Given the description of an element on the screen output the (x, y) to click on. 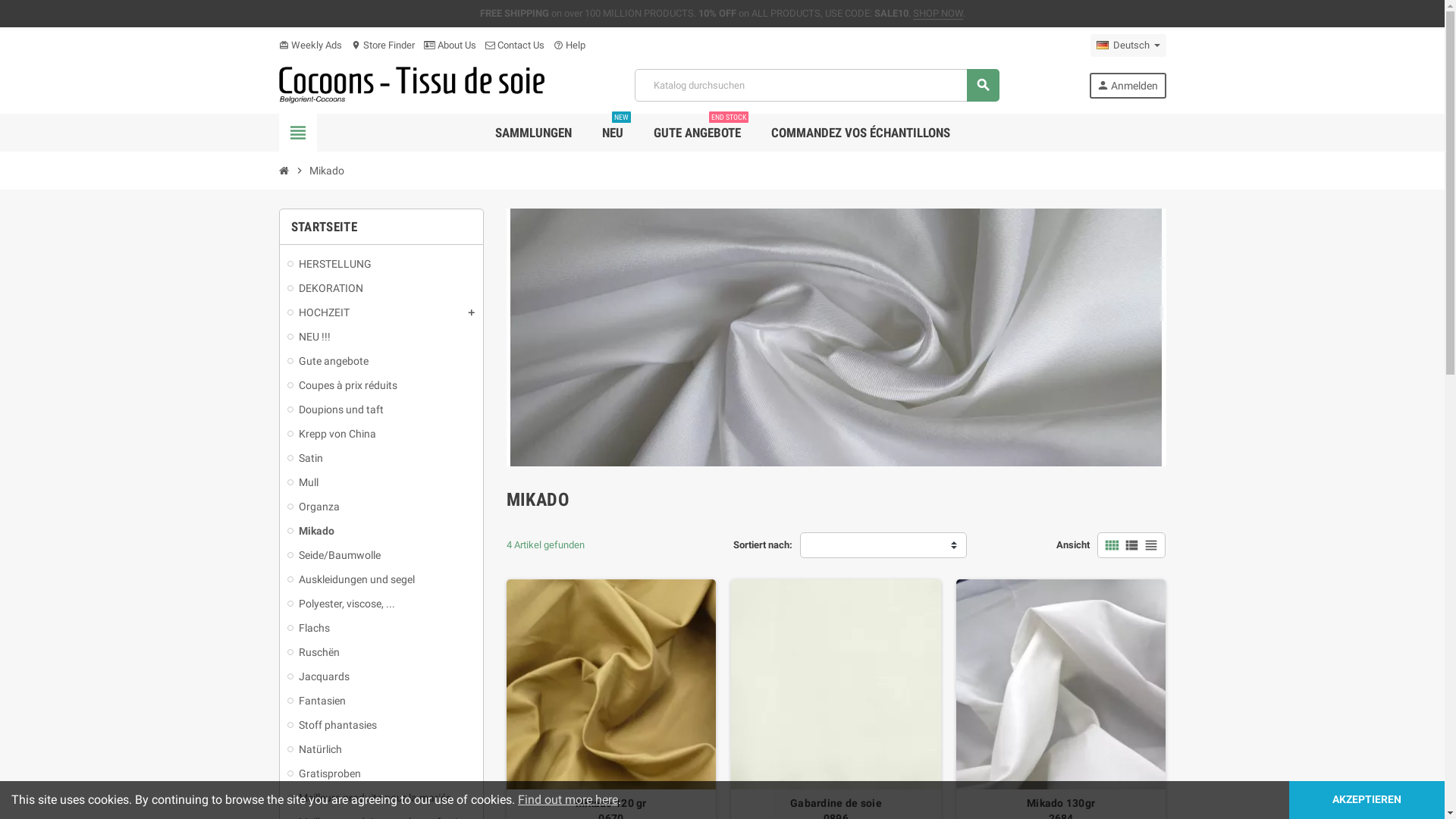
Mikado Element type: text (380, 530)
GUTE ANGEBOTE
END STOCK Element type: text (696, 132)
Organza Element type: text (380, 506)
Contact Us Element type: text (514, 44)
view_list Element type: text (1131, 544)
About Us Element type: text (449, 44)
view_comfy Element type: text (1111, 544)
SAMMLUNGEN Element type: text (533, 132)
  Deutsch Element type: text (1128, 45)
Polyester, viscose, ... Element type: text (380, 603)
NEU !!! Element type: text (380, 336)
card_giftcard Weekly Ads Element type: text (310, 44)
Fantasien Element type: text (380, 700)
NEU
NEW Element type: text (611, 132)
SHOP NOW Element type: text (938, 13)
Gabardine de soie Element type: hover (836, 684)
Flachs Element type: text (380, 627)
Find out more here Element type: text (567, 799)
Doupions und taft Element type: text (380, 409)
Gratisproben Element type: text (380, 773)
help_outline Help Element type: text (569, 44)
HOCHZEIT Element type: text (380, 312)
location_on Store Finder Element type: text (382, 44)
HERSTELLUNG Element type: text (380, 263)
Auskleidungen und segel Element type: text (380, 578)
Stoff phantasies Element type: text (380, 724)
Mikado Element type: text (325, 170)
person
Anmelden Element type: text (1127, 85)
Gute angebote Element type: text (380, 360)
Mikado 120 gr Element type: hover (611, 684)
Mull Element type: text (380, 481)
Satin Element type: text (380, 457)
COCOONS soie silk Element type: hover (412, 84)
DEKORATION Element type: text (380, 287)
Seide/Baumwolle Element type: text (380, 554)
search Element type: text (982, 85)
STARTSEITE Element type: text (324, 226)
Mikado 130gr Element type: hover (1061, 684)
Jacquards Element type: text (380, 676)
Krepp von China Element type: text (380, 433)
view_headline Element type: text (1150, 544)
